Given the description of an element on the screen output the (x, y) to click on. 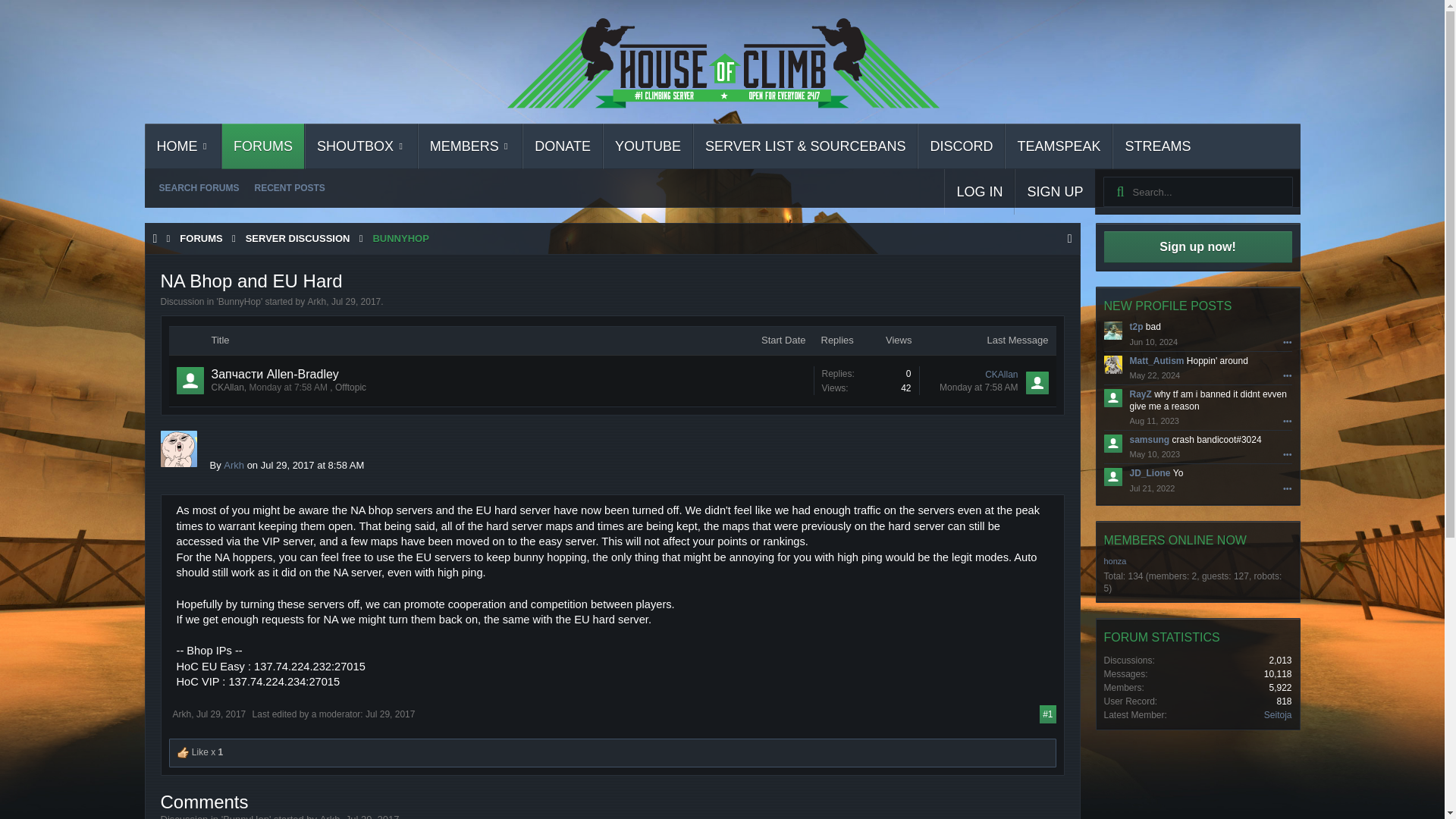
SEARCH FORUMS (199, 187)
Jul 22, 2024 at 7:58 AM (978, 387)
Permalink (221, 714)
HOME (183, 145)
Enter your search and hit enter (1197, 191)
FORUMS (263, 145)
Like (183, 752)
Home (154, 238)
Jul 29, 2017 at 12:37 PM (389, 714)
Thread starter (227, 387)
Open quick navigation (1069, 238)
Permalink (1047, 714)
Jul 29, 2017 at 8:58 AM (355, 301)
Jul 22, 2024 at 7:58 AM (287, 387)
Members who liked the first message: 0 (865, 380)
